Given the description of an element on the screen output the (x, y) to click on. 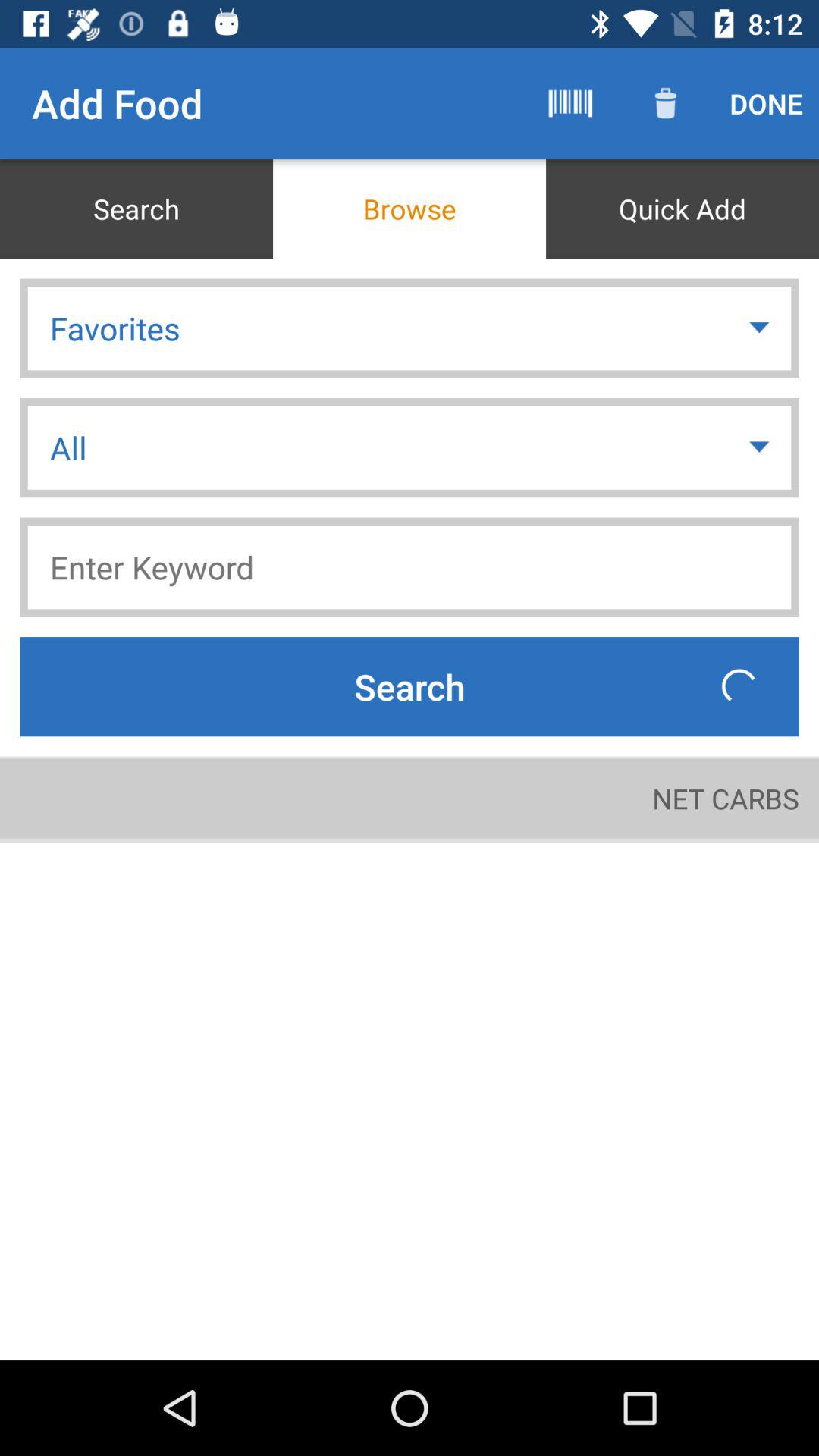
jump until favorites icon (409, 328)
